Given the description of an element on the screen output the (x, y) to click on. 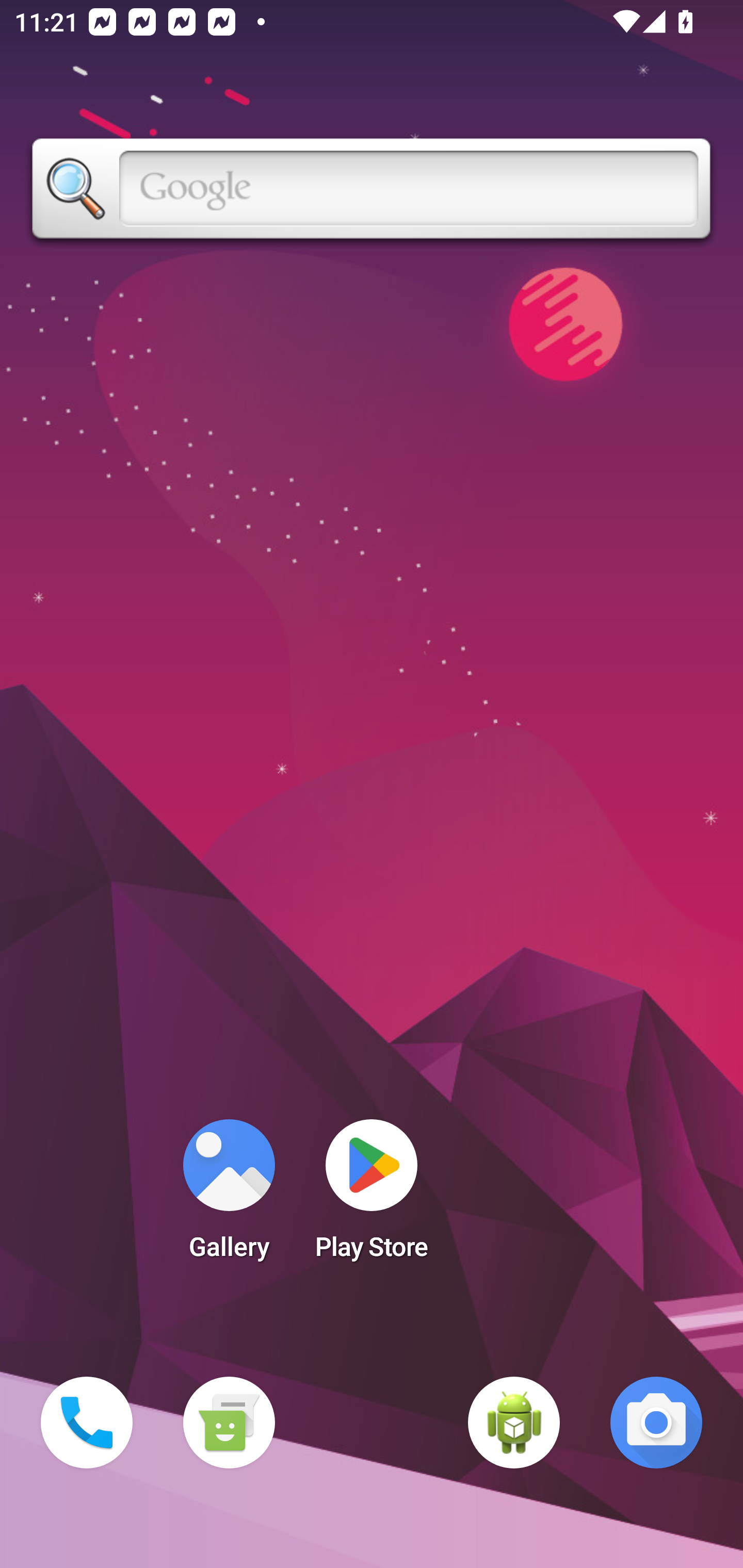
Gallery (228, 1195)
Play Store (371, 1195)
Phone (86, 1422)
Messaging (228, 1422)
WebView Browser Tester (513, 1422)
Camera (656, 1422)
